Given the description of an element on the screen output the (x, y) to click on. 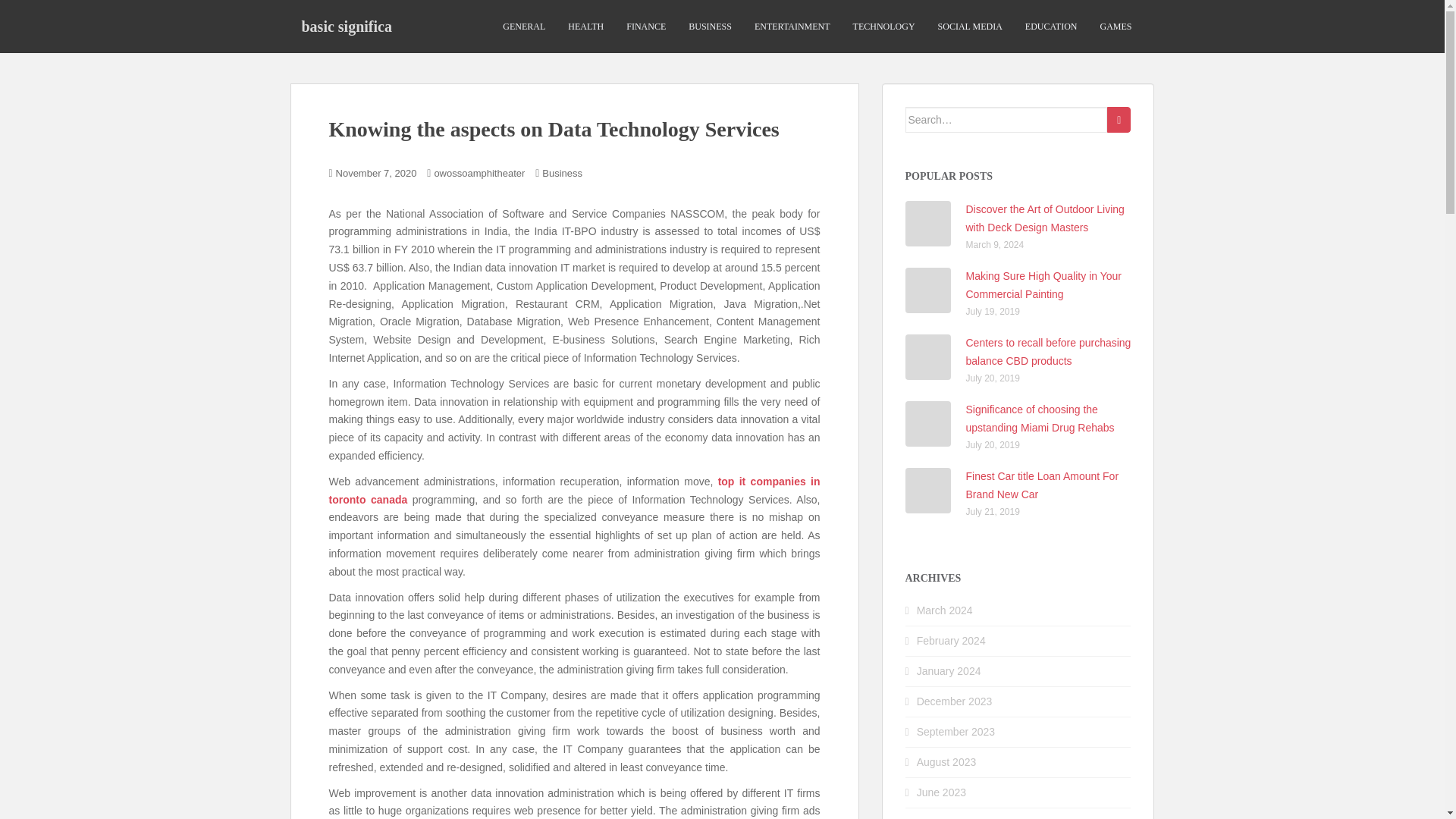
basic significa (346, 26)
Search for: (1006, 119)
Centers to recall before purchasing balance CBD products (1048, 351)
ENTERTAINMENT (791, 26)
Significance of choosing the upstanding Miami Drug Rehabs (1040, 418)
HEALTH (585, 26)
November 7, 2020 (376, 173)
top it companies in toronto canada (575, 490)
June 2023 (941, 792)
May 2023 (939, 817)
GAMES (1115, 26)
August 2023 (946, 761)
basic significa (346, 26)
owossoamphitheater (478, 173)
Search (1118, 119)
